Given the description of an element on the screen output the (x, y) to click on. 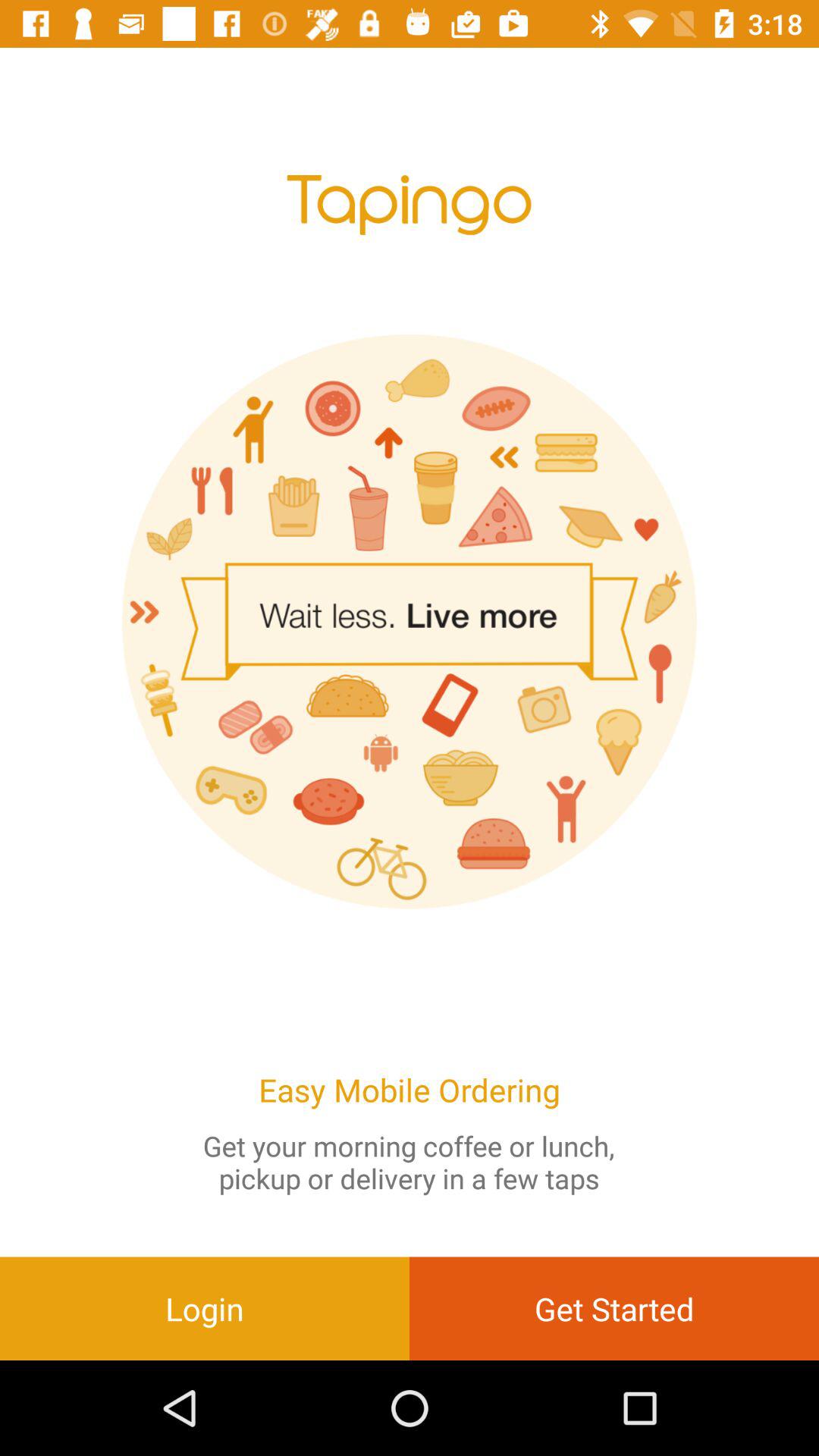
choose the login at the bottom left corner (204, 1308)
